Given the description of an element on the screen output the (x, y) to click on. 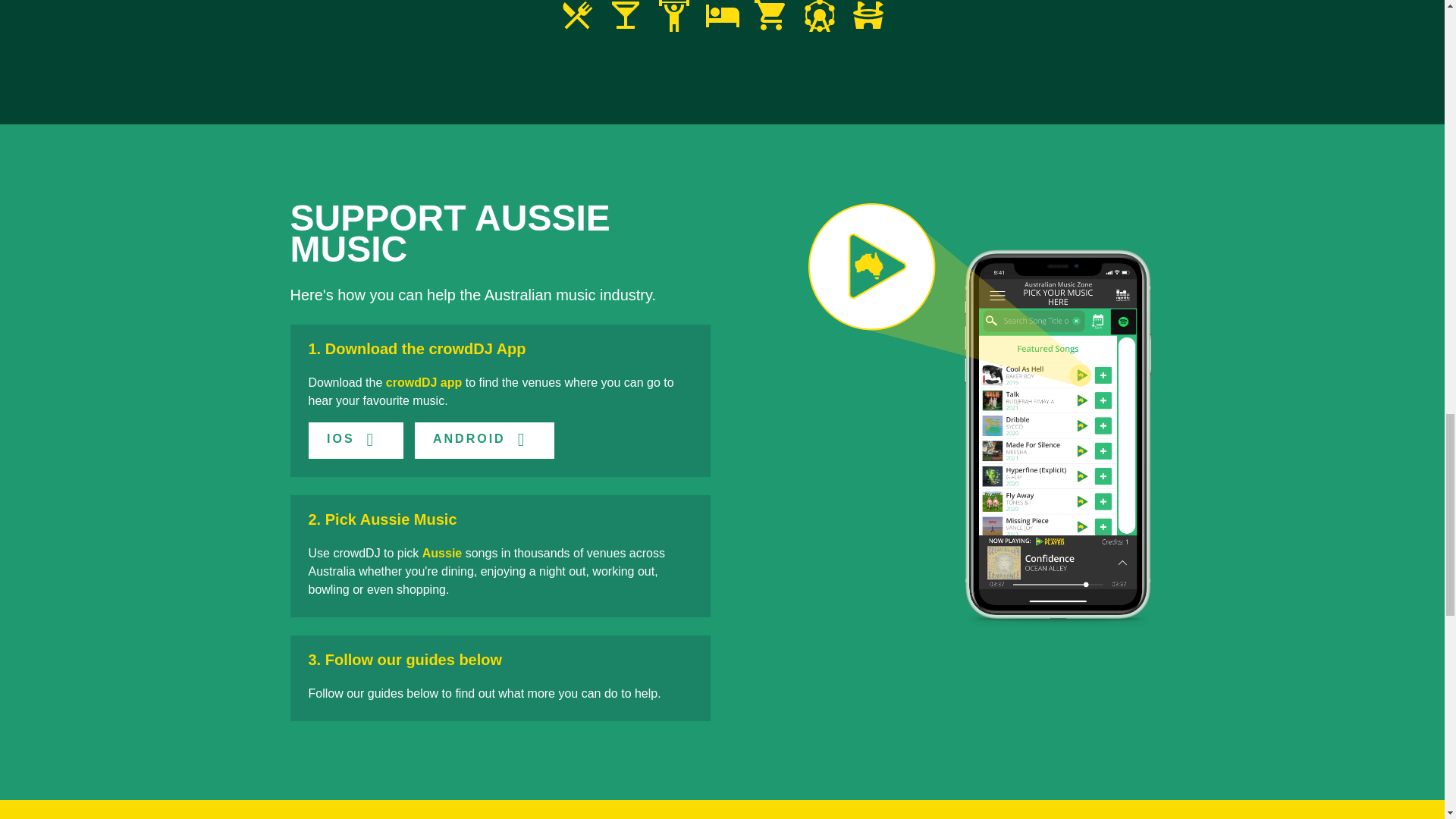
ANDROID (484, 440)
IOS (355, 440)
